Given the description of an element on the screen output the (x, y) to click on. 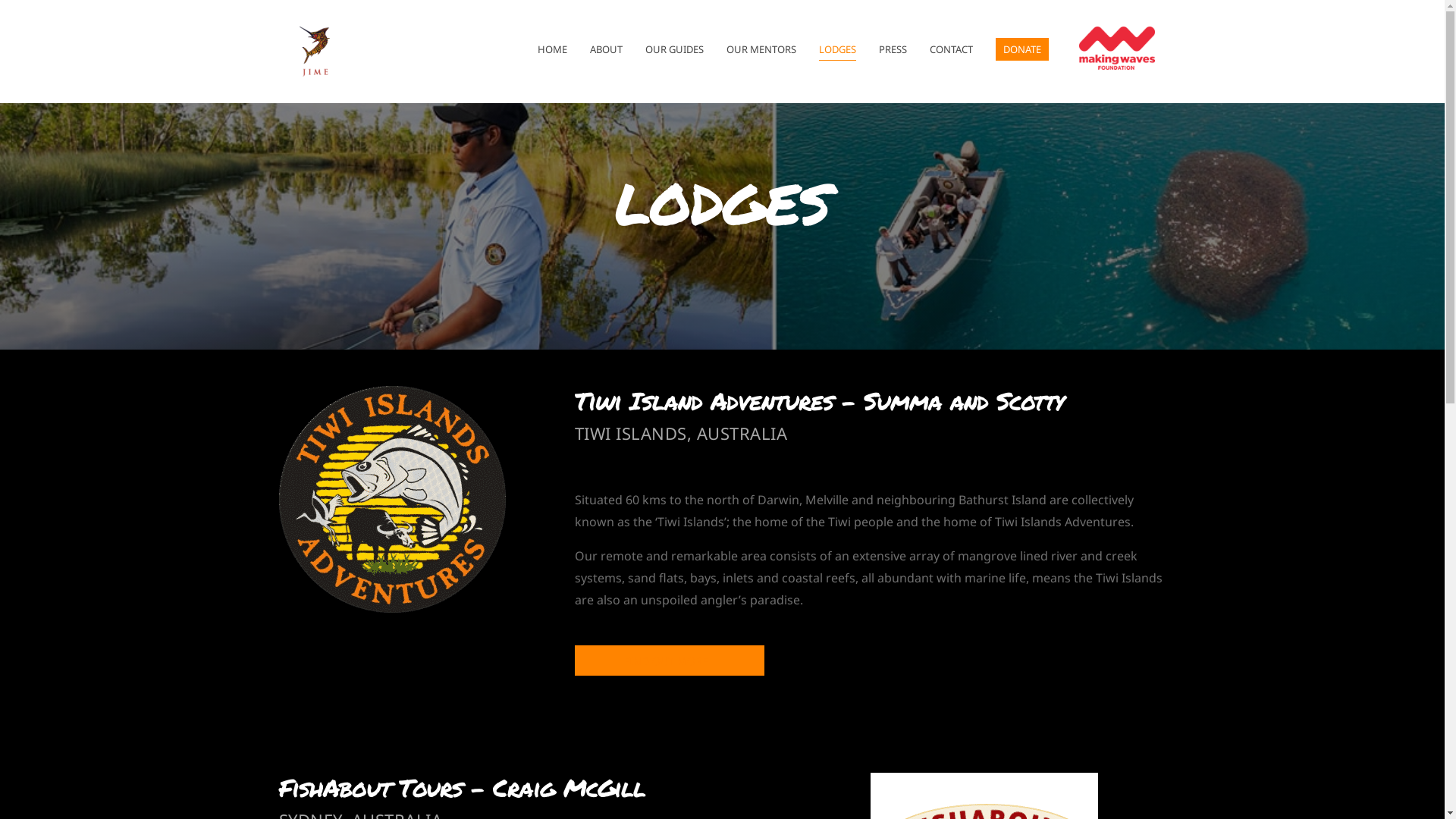
OUR MENTORS Element type: text (761, 48)
FIND OUT MORE   Element type: text (669, 660)
OUR GUIDES Element type: text (673, 48)
DONATE Element type: text (1021, 48)
HOME Element type: text (551, 48)
CONTACT Element type: text (950, 48)
LODGES Element type: text (837, 48)
PRESS Element type: text (892, 48)
ABOUT Element type: text (605, 48)
